Given the description of an element on the screen output the (x, y) to click on. 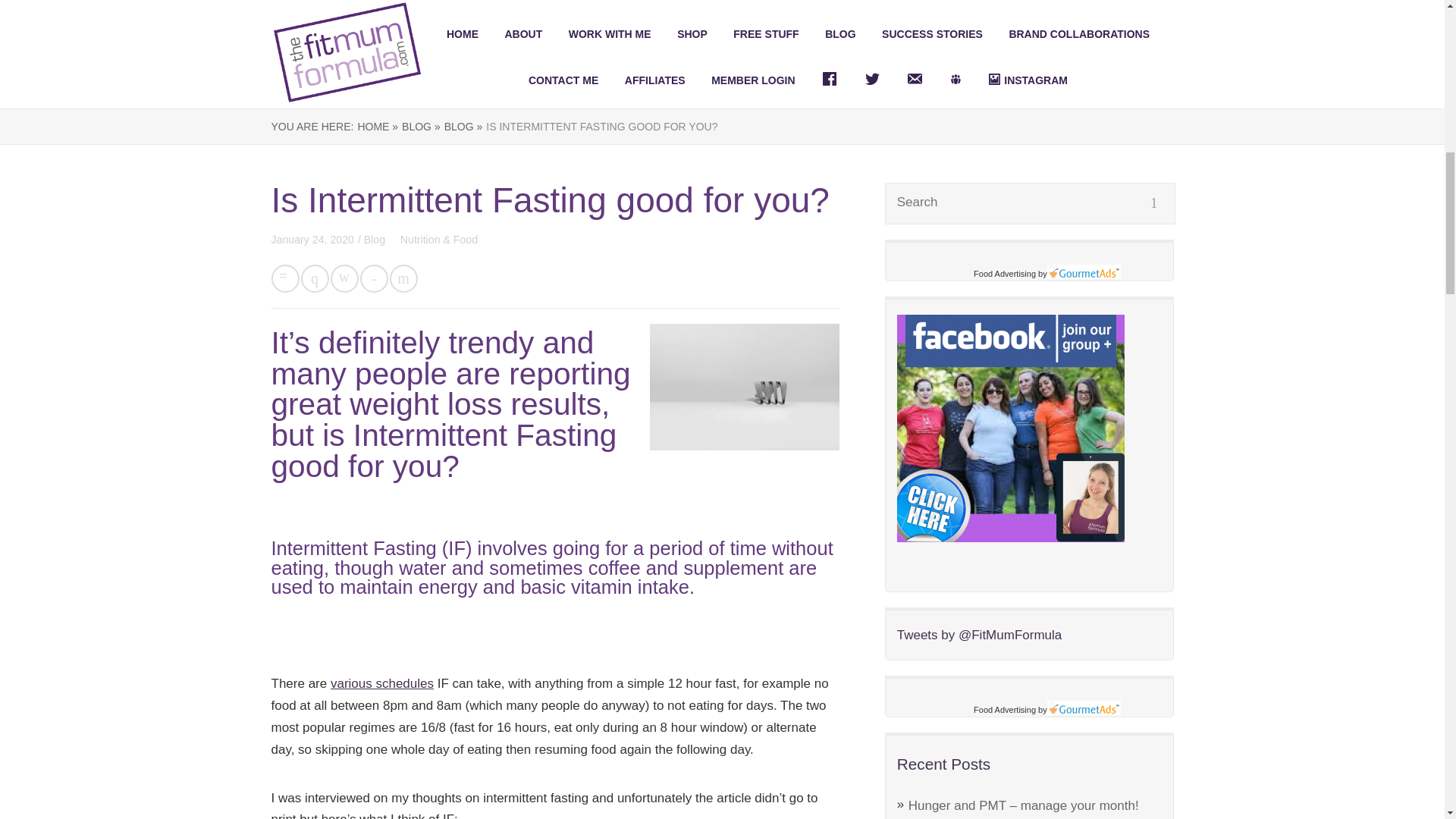
Food Advertising (1004, 709)
BLOG (840, 33)
Food Advertising (1004, 273)
SHOP (692, 33)
ABOUT (522, 33)
HOME (462, 33)
BRAND COLLABORATIONS (1079, 33)
SUCCESS STORIES (932, 33)
WORK WITH ME (609, 33)
is intermittent fasting good for you (744, 386)
CONTACT ME (563, 80)
AFFILIATES (654, 80)
FREE STUFF (765, 33)
